Given the description of an element on the screen output the (x, y) to click on. 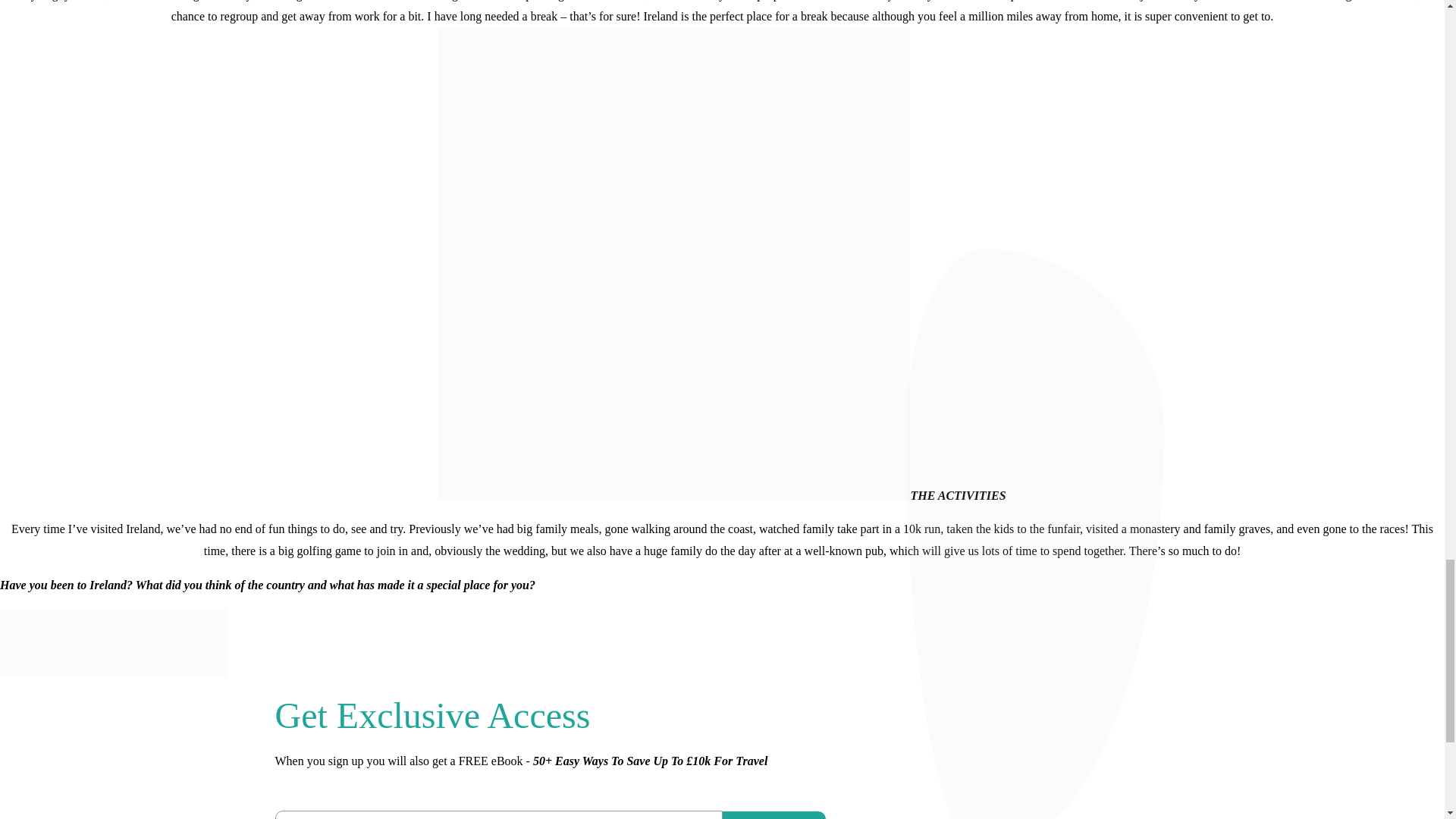
Subscribe (773, 815)
